Given the description of an element on the screen output the (x, y) to click on. 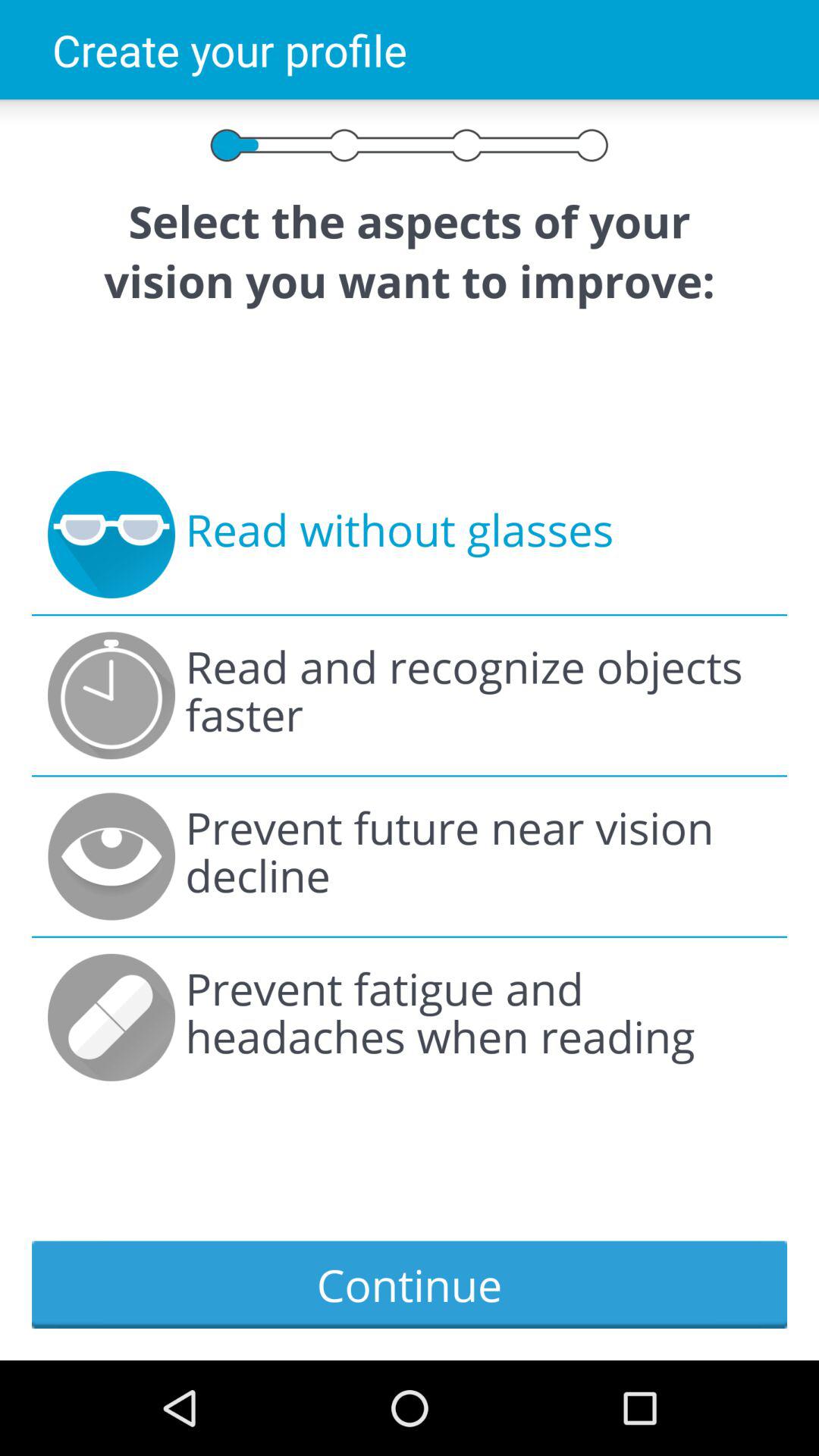
turn on the item above prevent fatigue and item (478, 856)
